Given the description of an element on the screen output the (x, y) to click on. 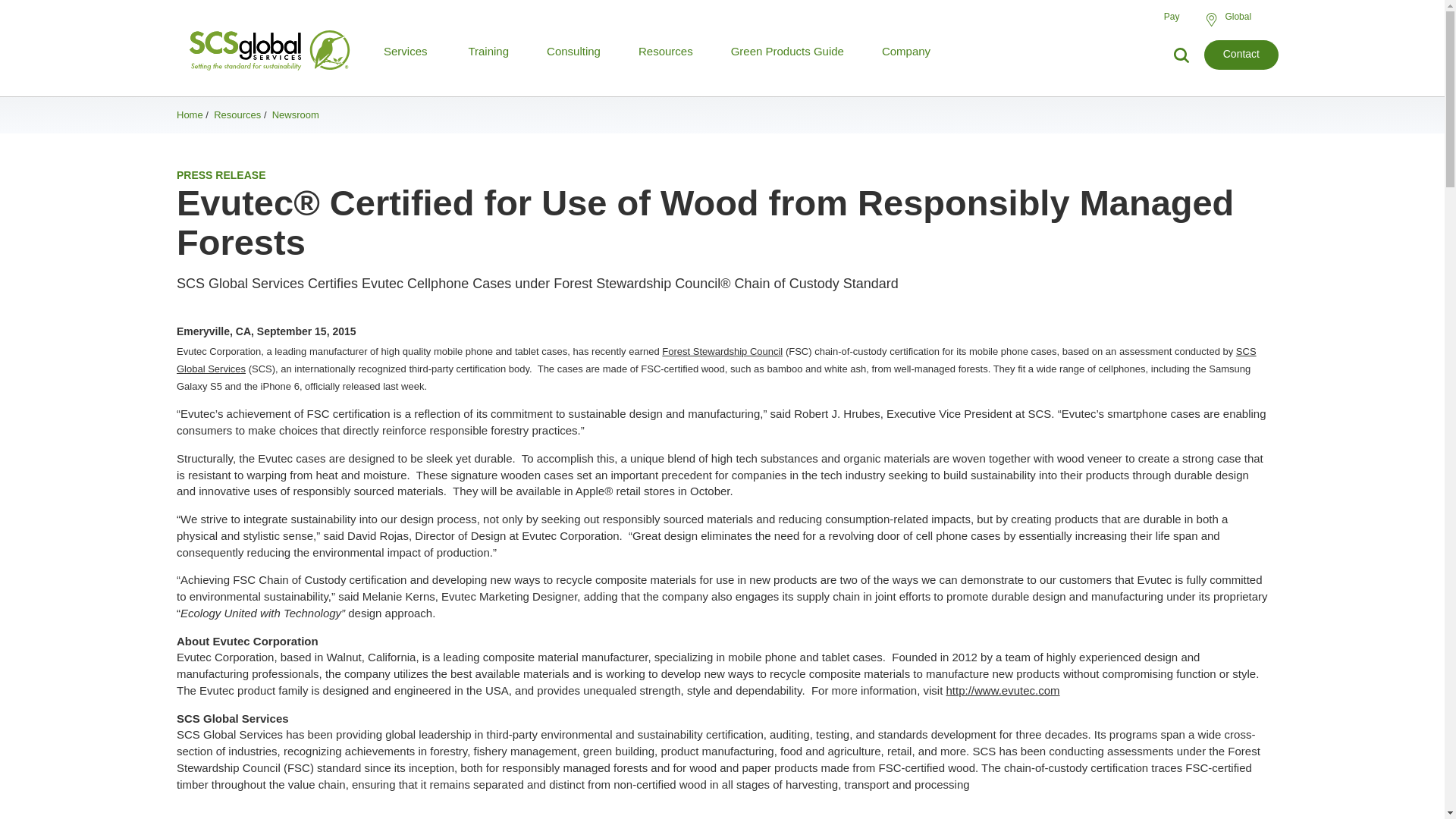
Contact (1241, 54)
Services (406, 51)
